Given the description of an element on the screen output the (x, y) to click on. 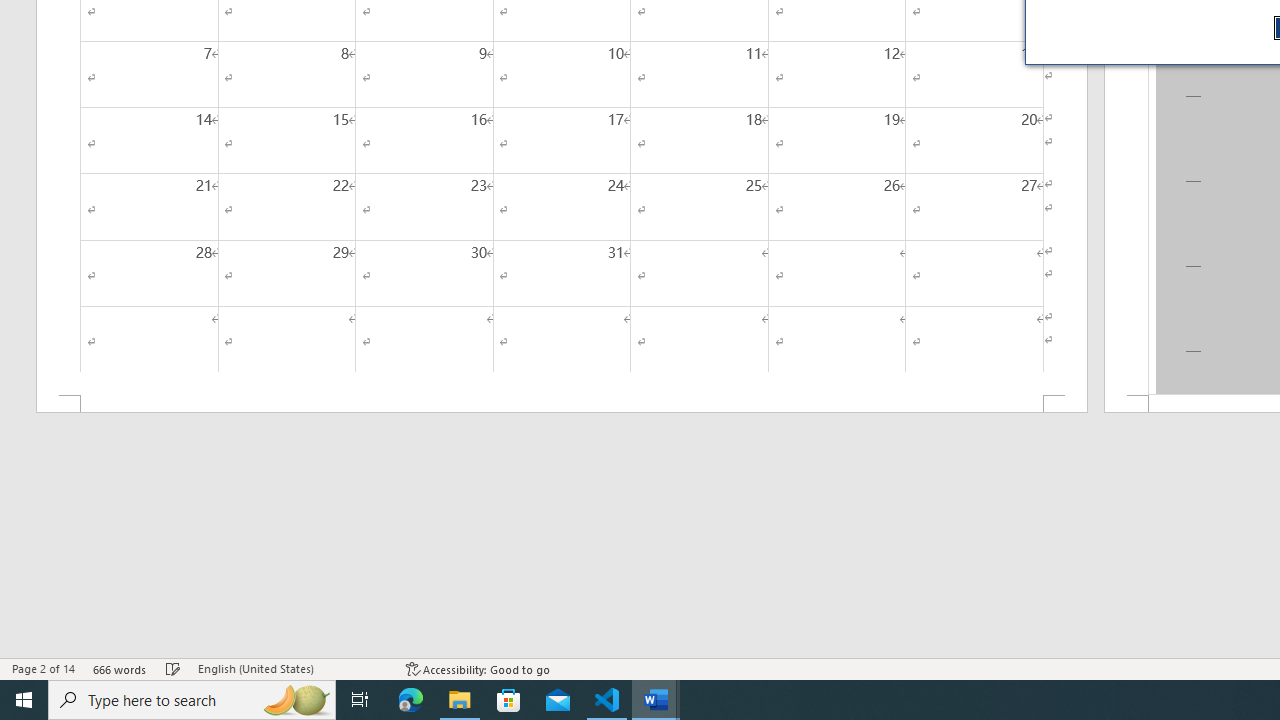
Visual Studio Code - 1 running window (607, 699)
Accessibility Checker Accessibility: Good to go (478, 668)
File Explorer - 1 running window (460, 699)
Language English (United States) (292, 668)
Type here to search (191, 699)
Footer -Section 1- (561, 404)
Microsoft Store (509, 699)
Start (24, 699)
Word Count 666 words (119, 668)
Search highlights icon opens search home window (295, 699)
Page Number Page 2 of 14 (43, 668)
Spelling and Grammar Check Checking (173, 668)
Microsoft Edge (411, 699)
Word - 2 running windows (656, 699)
